Given the description of an element on the screen output the (x, y) to click on. 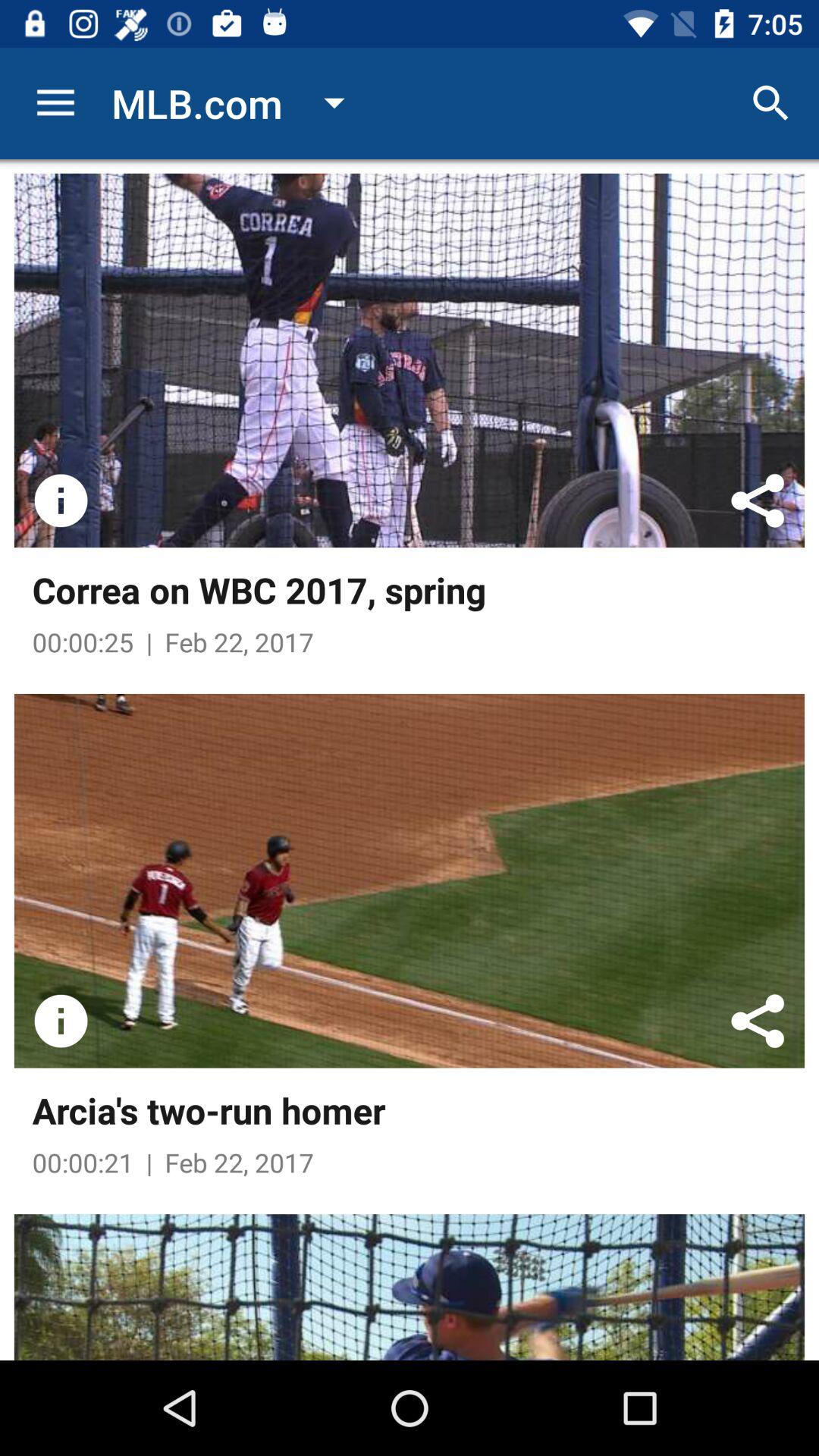
go to information (61, 1021)
